Given the description of an element on the screen output the (x, y) to click on. 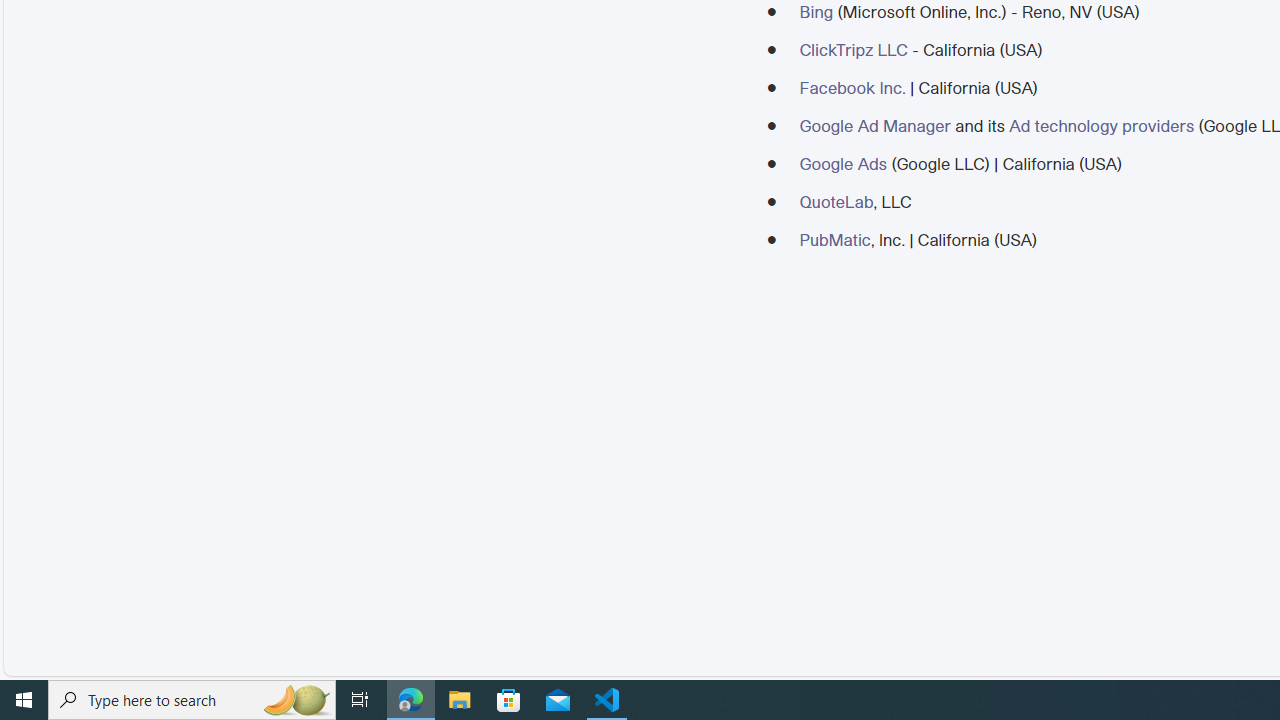
Google Ad Manager (874, 125)
QuoteLab (836, 201)
PubMatic (834, 239)
Google Ads (842, 163)
Ad technology providers (1101, 125)
ClickTripz LLC (852, 49)
Facebook Inc. (852, 87)
